Given the description of an element on the screen output the (x, y) to click on. 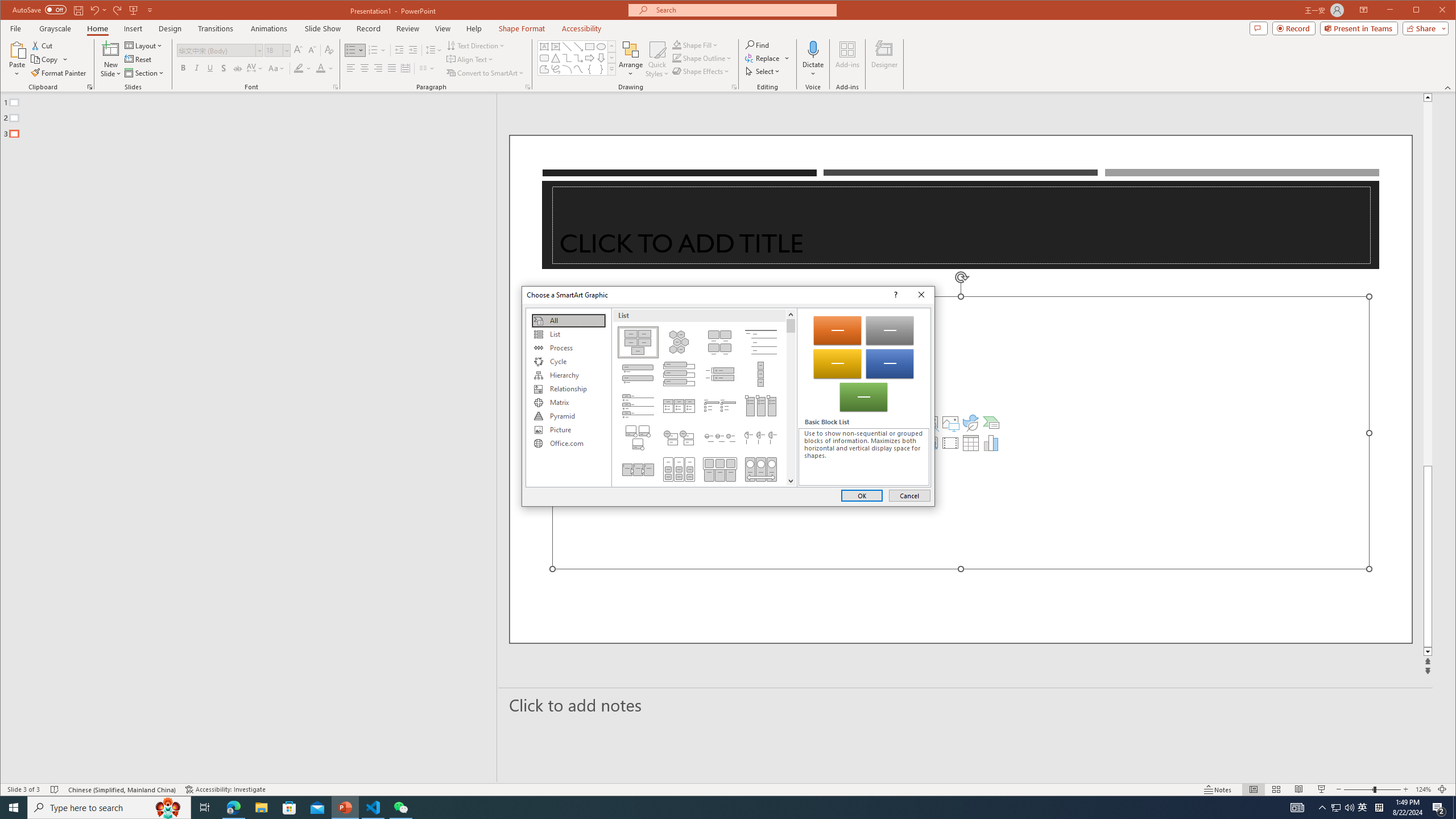
Basic Block List (637, 342)
All (568, 320)
Class: NetUITextbox (862, 456)
OK (861, 495)
Context help (894, 294)
Picture Accent List (761, 405)
